Given the description of an element on the screen output the (x, y) to click on. 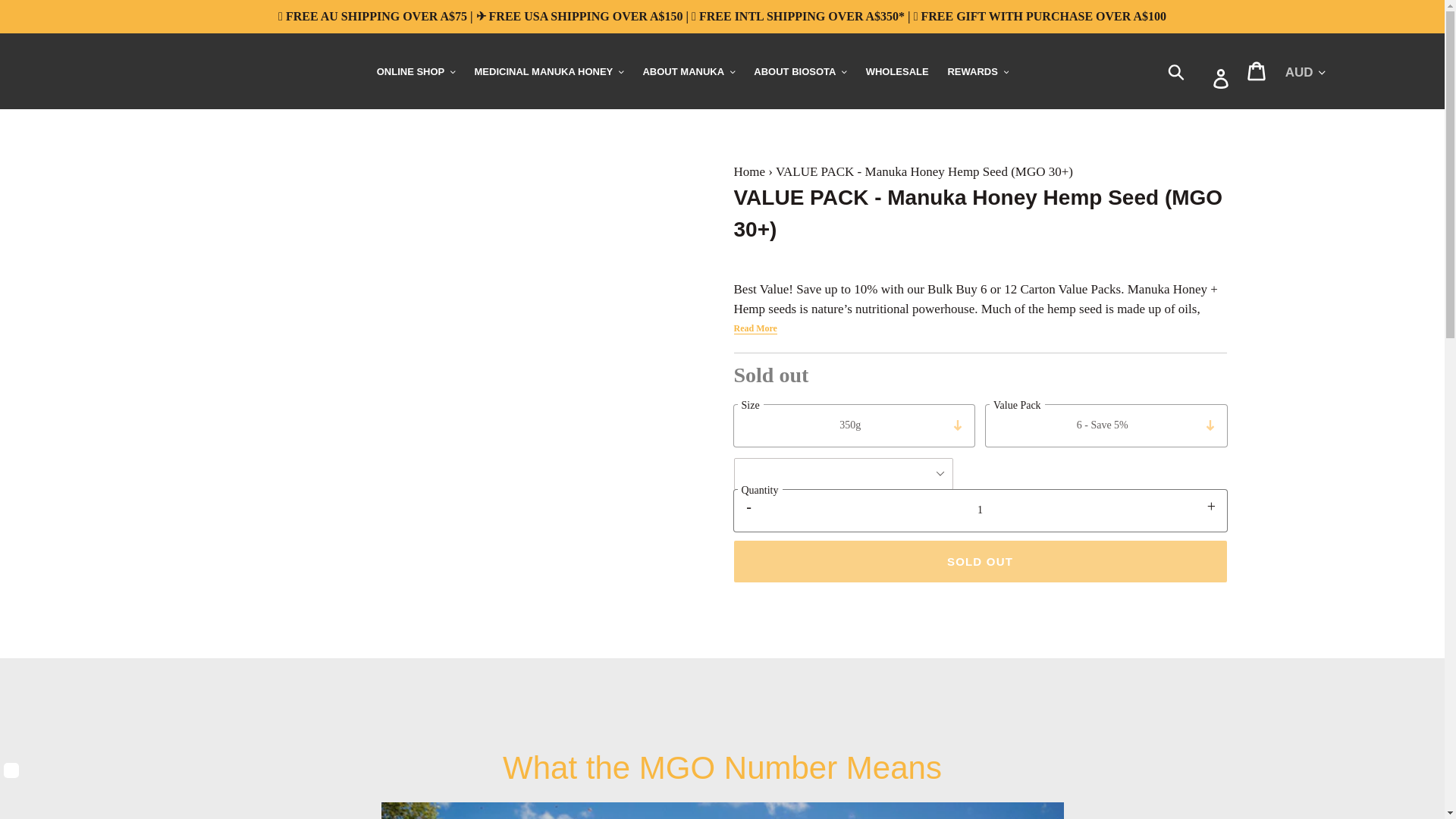
Home (749, 171)
1 (980, 510)
What the MGO Number Means (721, 810)
WHOLESALE (897, 71)
